Given the description of an element on the screen output the (x, y) to click on. 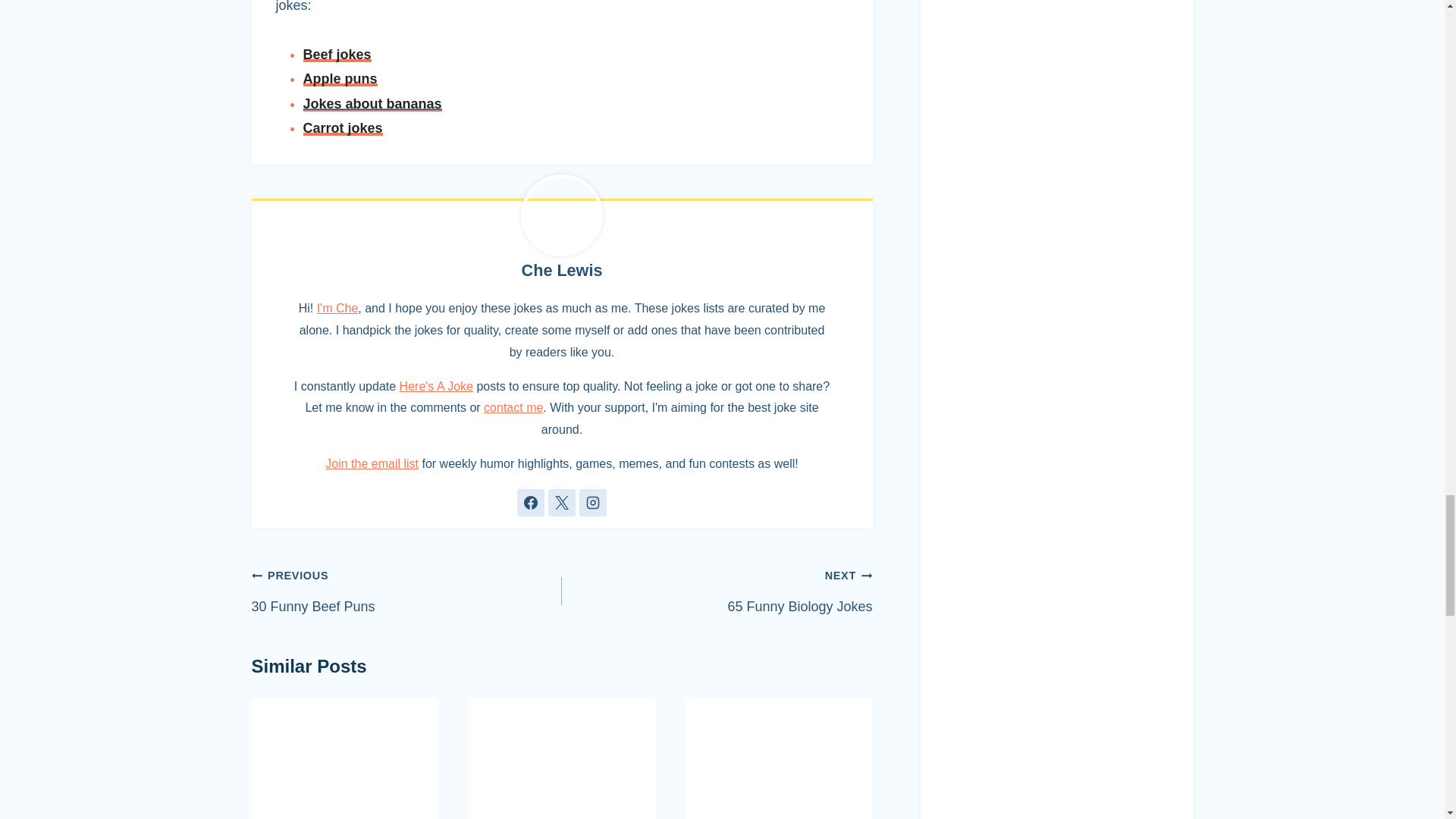
Follow Che Lewis on X formerly Twitter (561, 502)
Apple puns (339, 78)
I'm Che (337, 308)
Beef jokes (336, 54)
Here's A Joke (435, 386)
Jokes about (344, 103)
Carrot jokes (342, 127)
Follow Che Lewis on Facebook (530, 502)
Follow Che Lewis on Instagram (593, 502)
Posts by Che Lewis (561, 270)
